Given the description of an element on the screen output the (x, y) to click on. 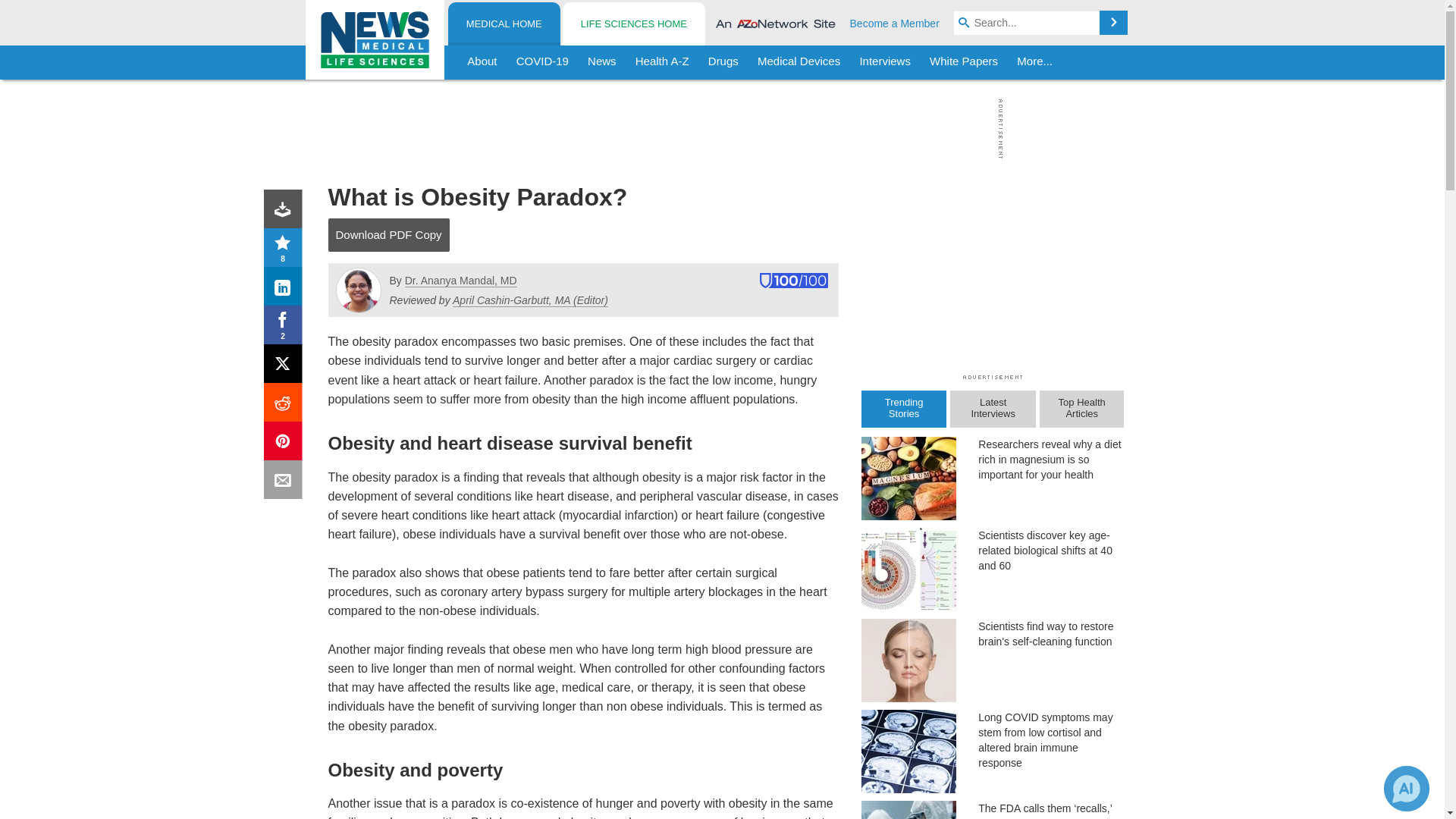
LinkedIn (285, 289)
LIFE SCIENCES HOME (633, 23)
MEDICAL HOME (504, 23)
Medical Devices (798, 62)
Rating (285, 250)
3rd party ad content (718, 128)
About (482, 62)
Reddit (285, 405)
White Papers (963, 62)
